Given the description of an element on the screen output the (x, y) to click on. 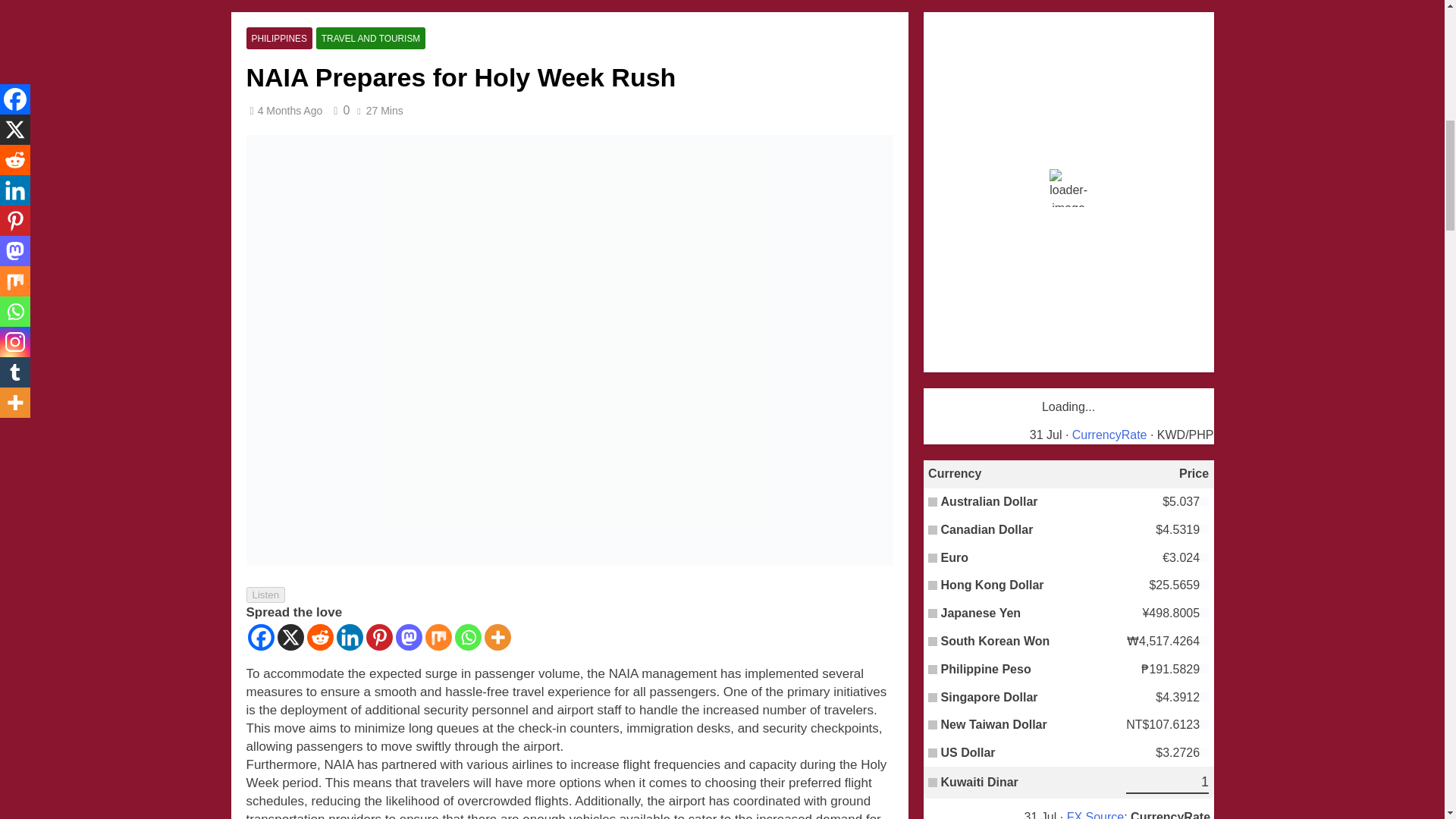
1 (1166, 782)
